Given the description of an element on the screen output the (x, y) to click on. 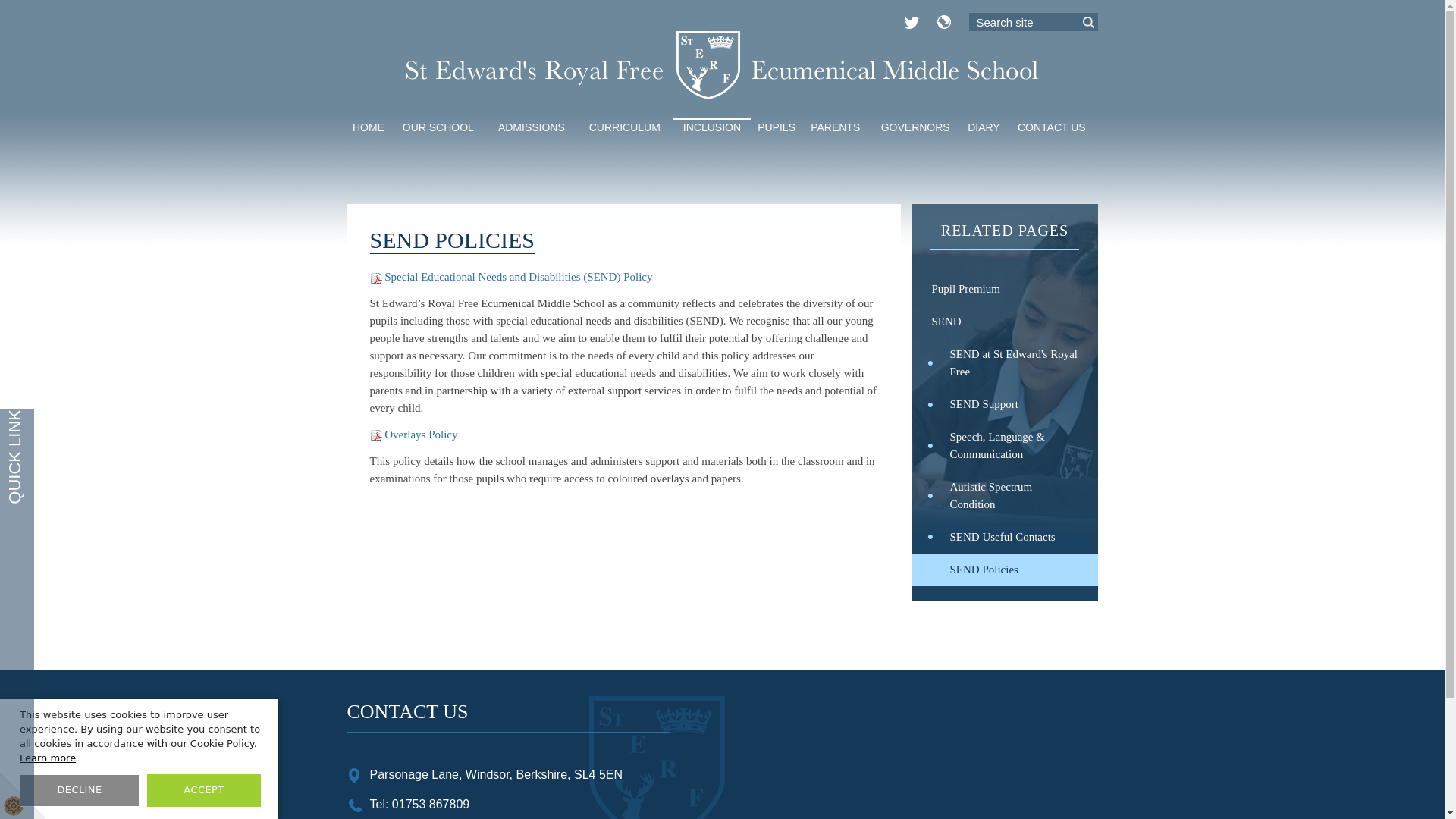
OUR SCHOOL (438, 127)
Search site (1033, 22)
ADMISSIONS (531, 127)
HOME (368, 127)
